Given the description of an element on the screen output the (x, y) to click on. 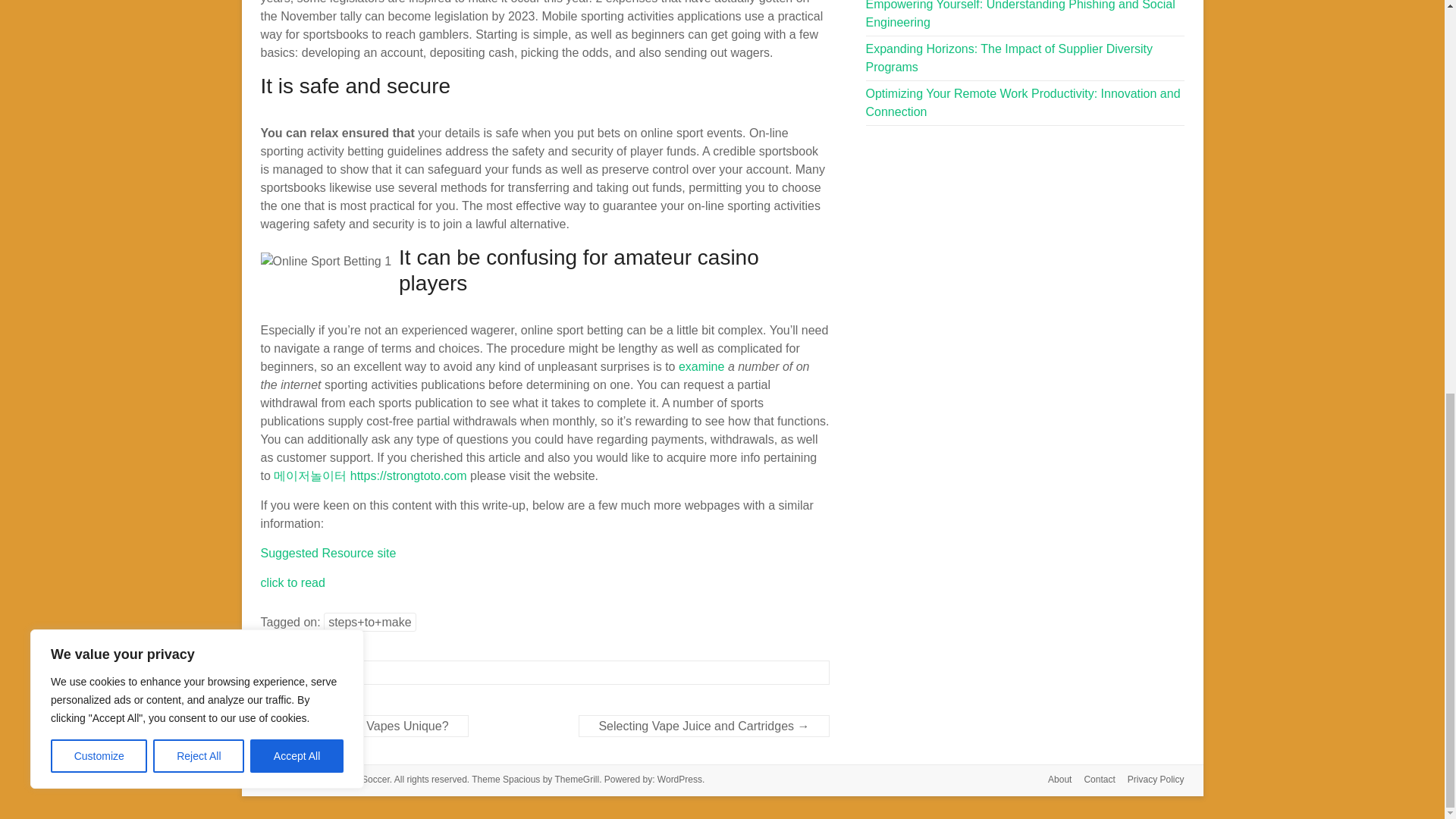
Customize (98, 8)
examine (700, 366)
click to read (292, 582)
General (301, 672)
Suggested Resource site (328, 553)
Spacious (521, 778)
Accept All (296, 8)
Reject All (198, 8)
Friday Soccer (360, 778)
WordPress (679, 778)
